Given the description of an element on the screen output the (x, y) to click on. 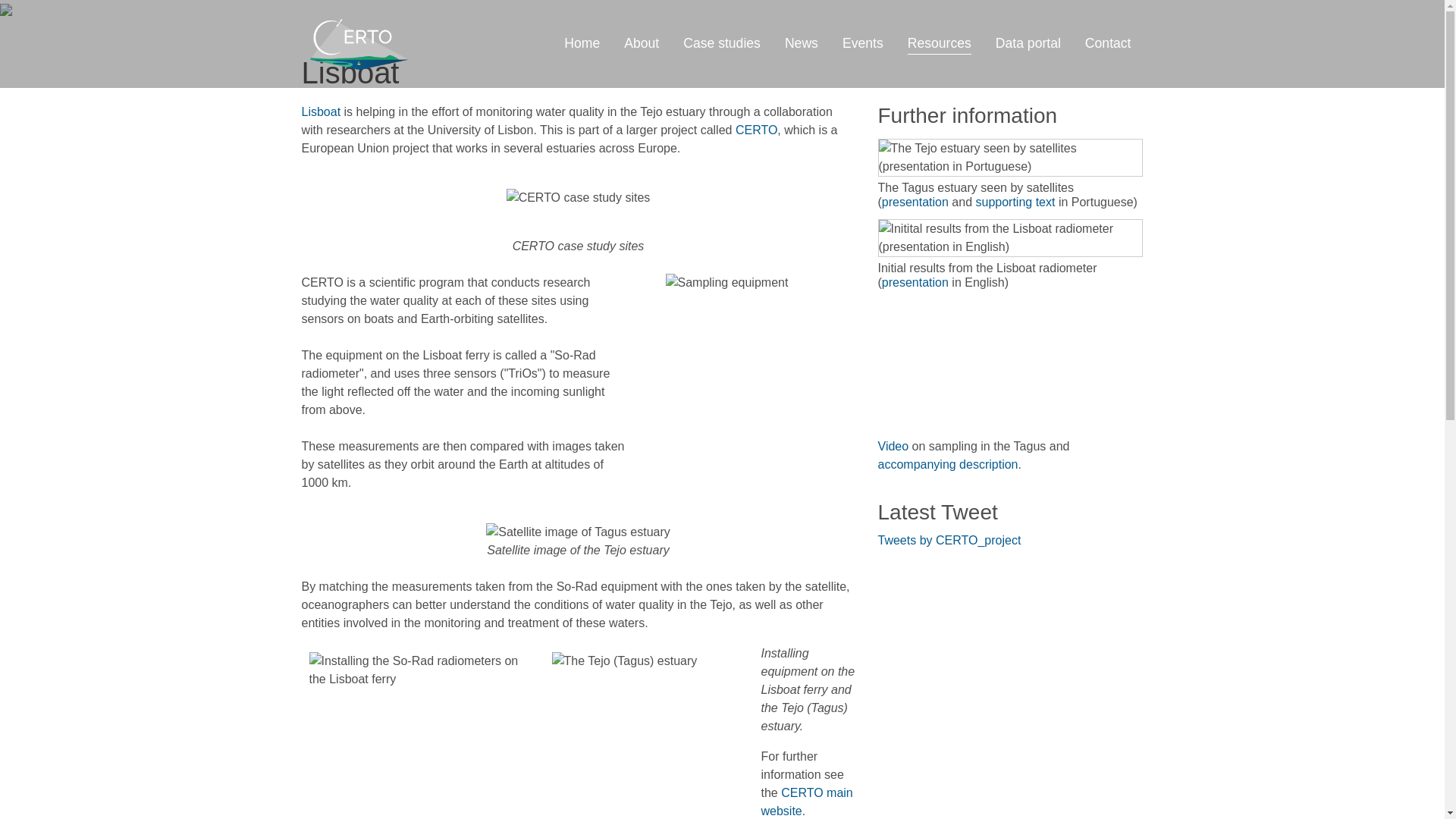
CERTO (756, 129)
Events (862, 43)
supporting text (1014, 201)
presentation (917, 201)
Data portal (1028, 43)
About (641, 43)
Home (581, 43)
Video (892, 445)
Case studies (722, 43)
News (801, 43)
Lisboat (322, 111)
Resources (939, 43)
YouTube video player (991, 363)
Contact (1107, 43)
accompanying description (947, 463)
